Given the description of an element on the screen output the (x, y) to click on. 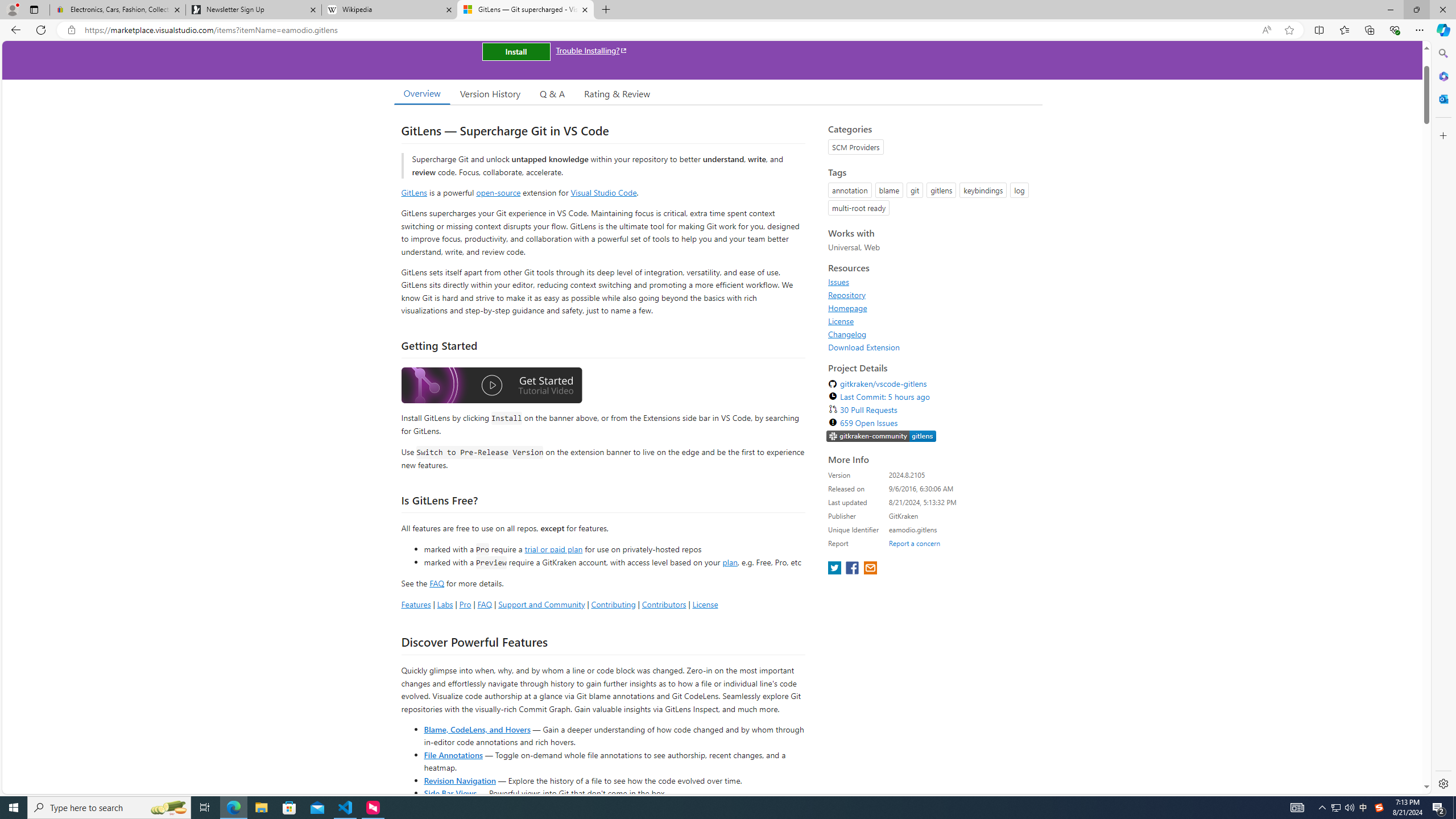
Install (515, 51)
License (840, 320)
Version History (489, 92)
Issues (838, 281)
Electronics, Cars, Fashion, Collectibles & More | eBay (117, 9)
Side Bar Views (449, 792)
File Annotations (453, 754)
